Given the description of an element on the screen output the (x, y) to click on. 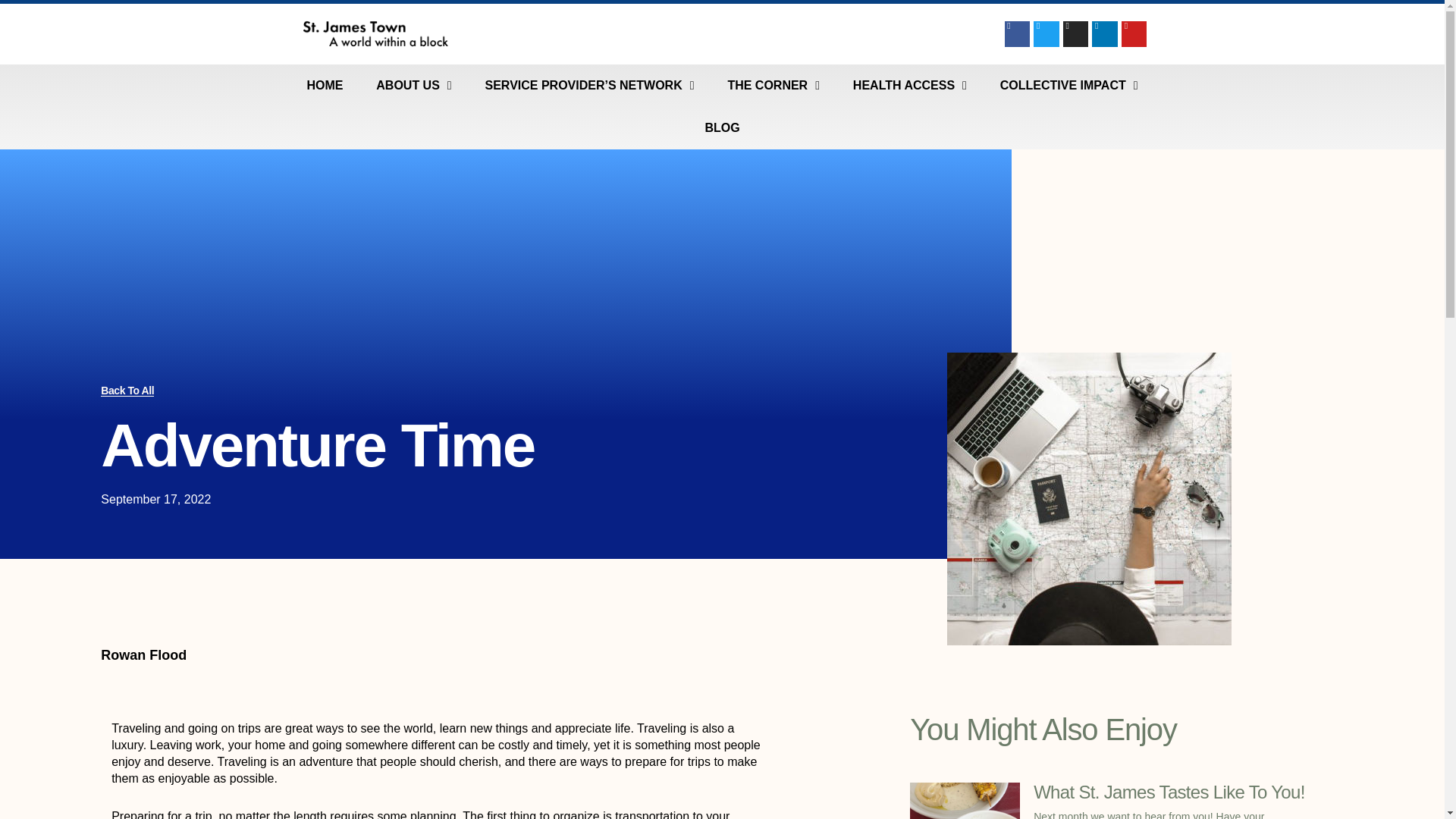
Facebook-f (1017, 33)
ABOUT US (413, 85)
HEALTH ACCESS (909, 85)
Youtube (1134, 33)
HOME (324, 85)
Linkedin (1105, 33)
BLOG (721, 128)
Instagram (1075, 33)
Twitter (1046, 33)
THE CORNER (772, 85)
COLLECTIVE IMPACT (1069, 85)
